Given the description of an element on the screen output the (x, y) to click on. 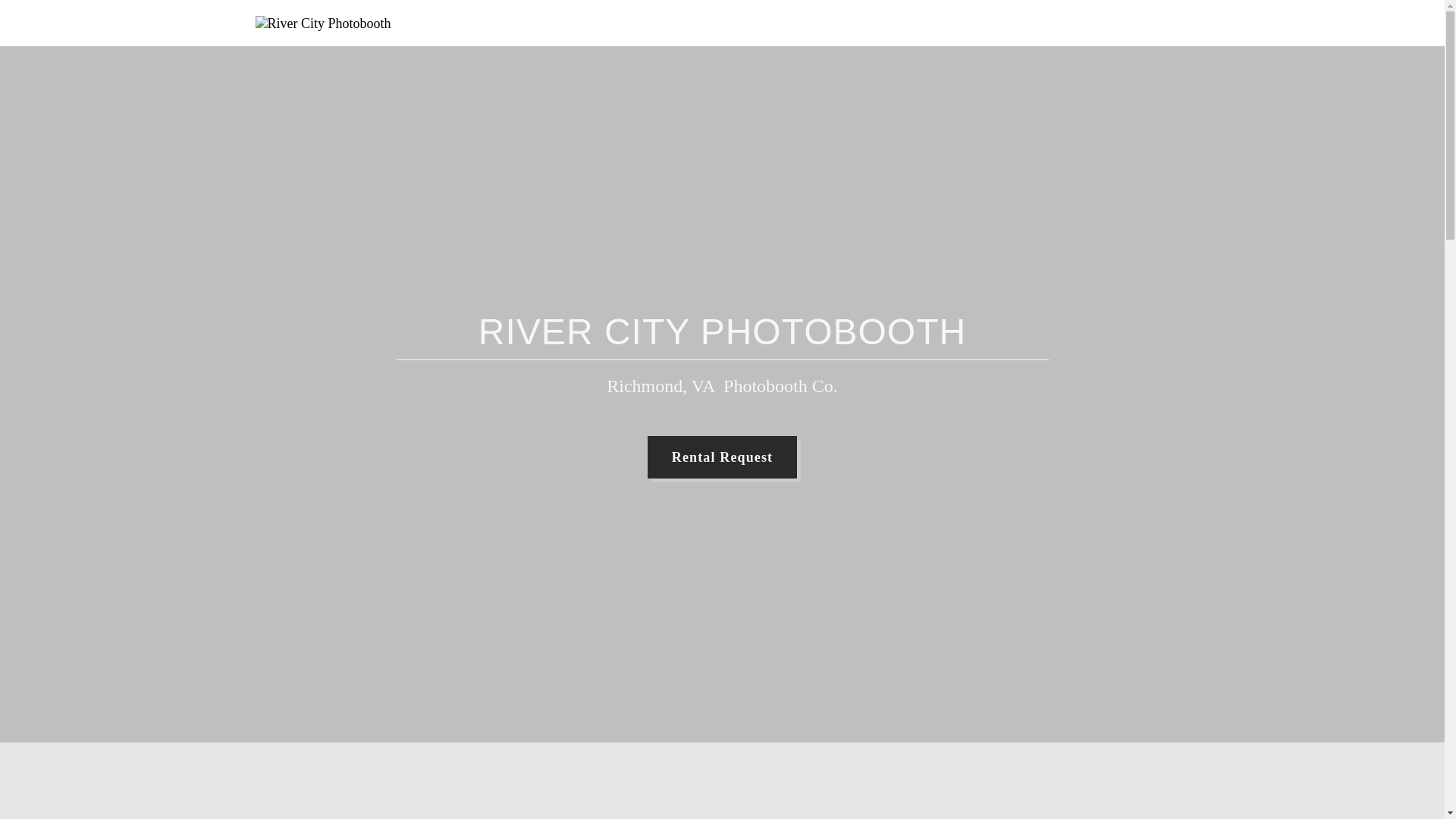
River City Photobooth (322, 21)
Rental Request (721, 456)
